Given the description of an element on the screen output the (x, y) to click on. 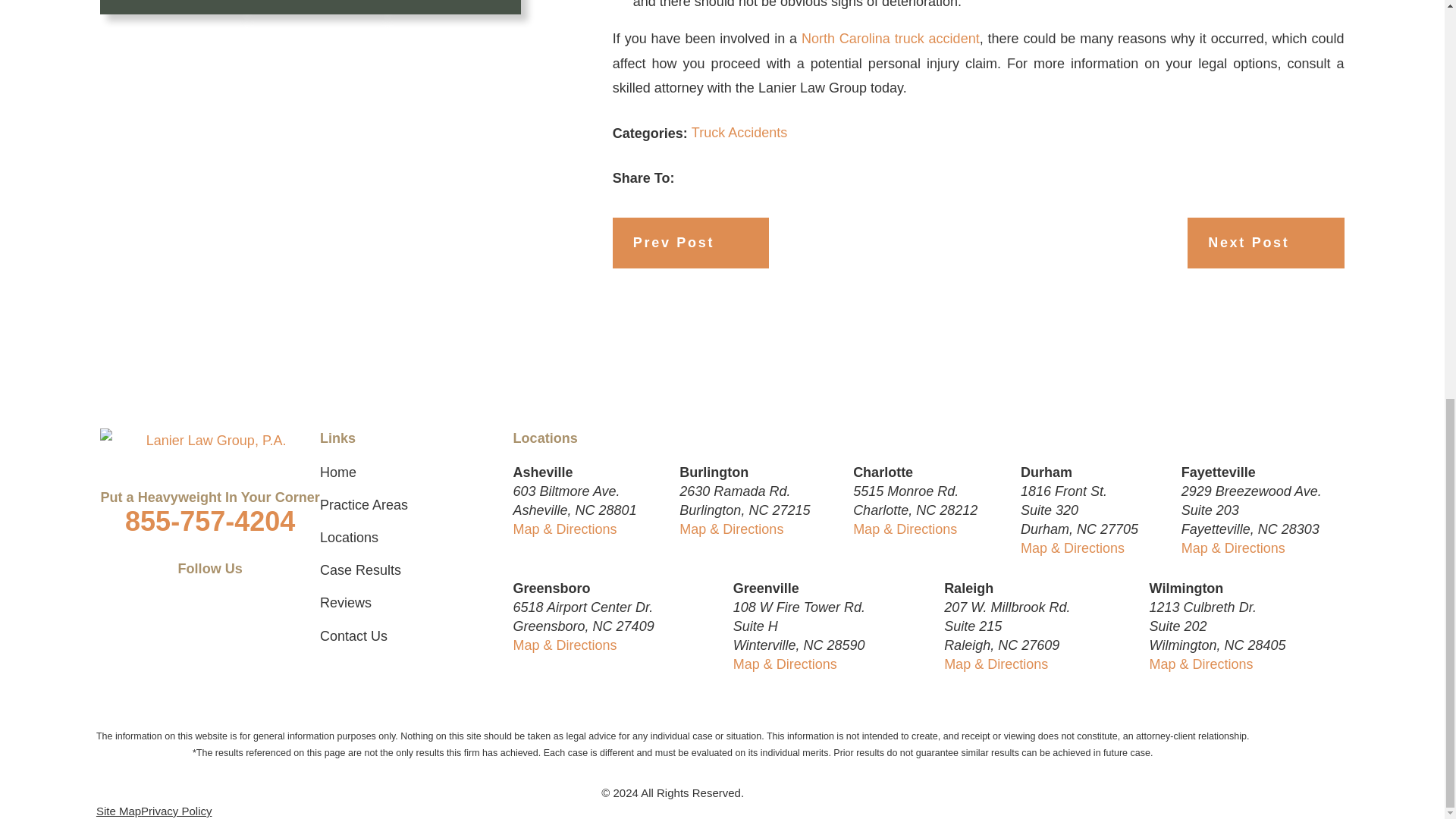
Facebook (150, 588)
Home (209, 440)
LinkedIn (189, 588)
YouTube (230, 588)
